Given the description of an element on the screen output the (x, y) to click on. 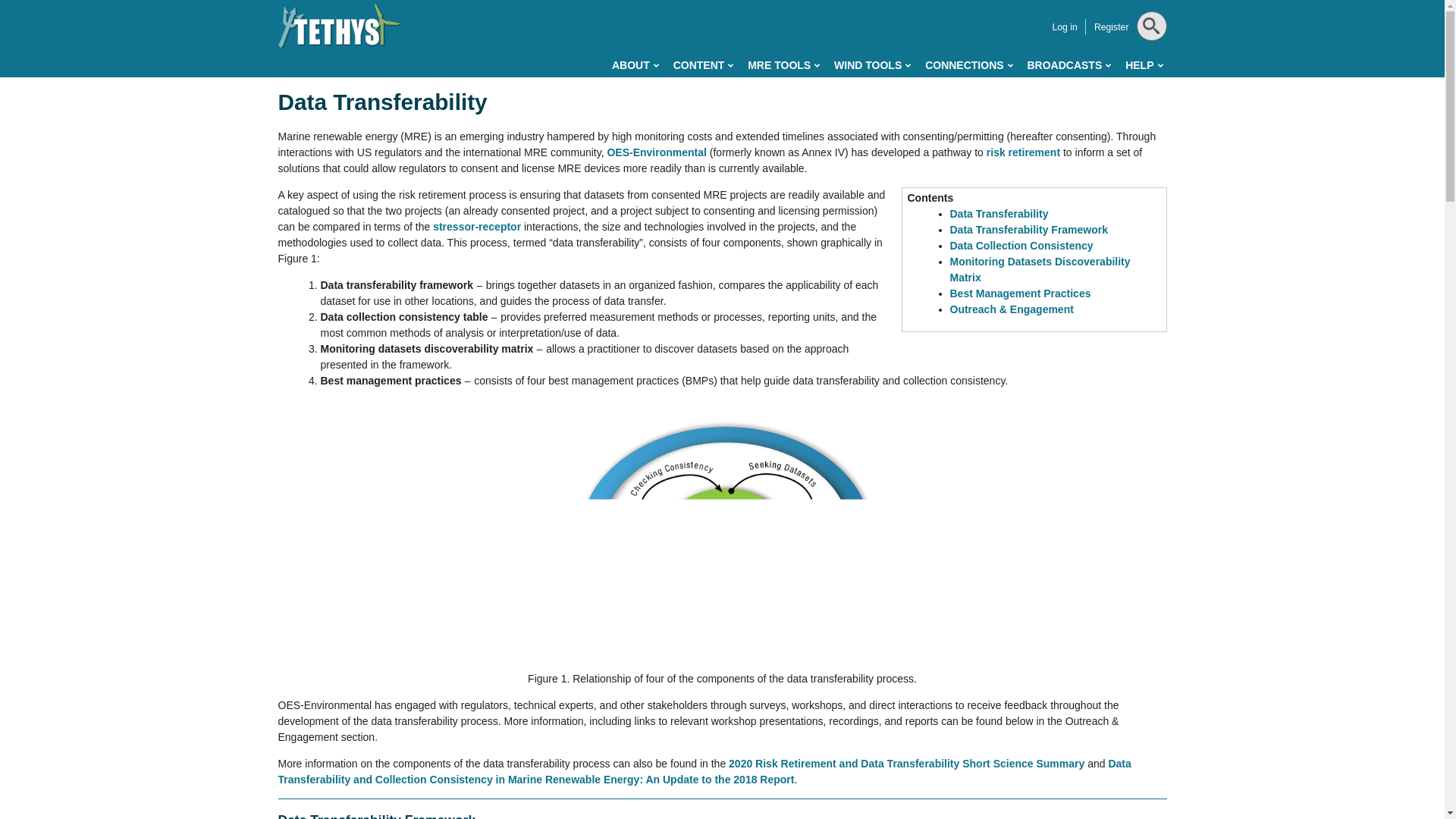
Home (339, 26)
BROADCASTS (1068, 65)
CONNECTIONS (967, 65)
CONTENT (702, 65)
Search (1148, 64)
Search (1148, 64)
WIND TOOLS (872, 65)
HELP (1143, 65)
Register (1111, 27)
Log in (1064, 27)
